Given the description of an element on the screen output the (x, y) to click on. 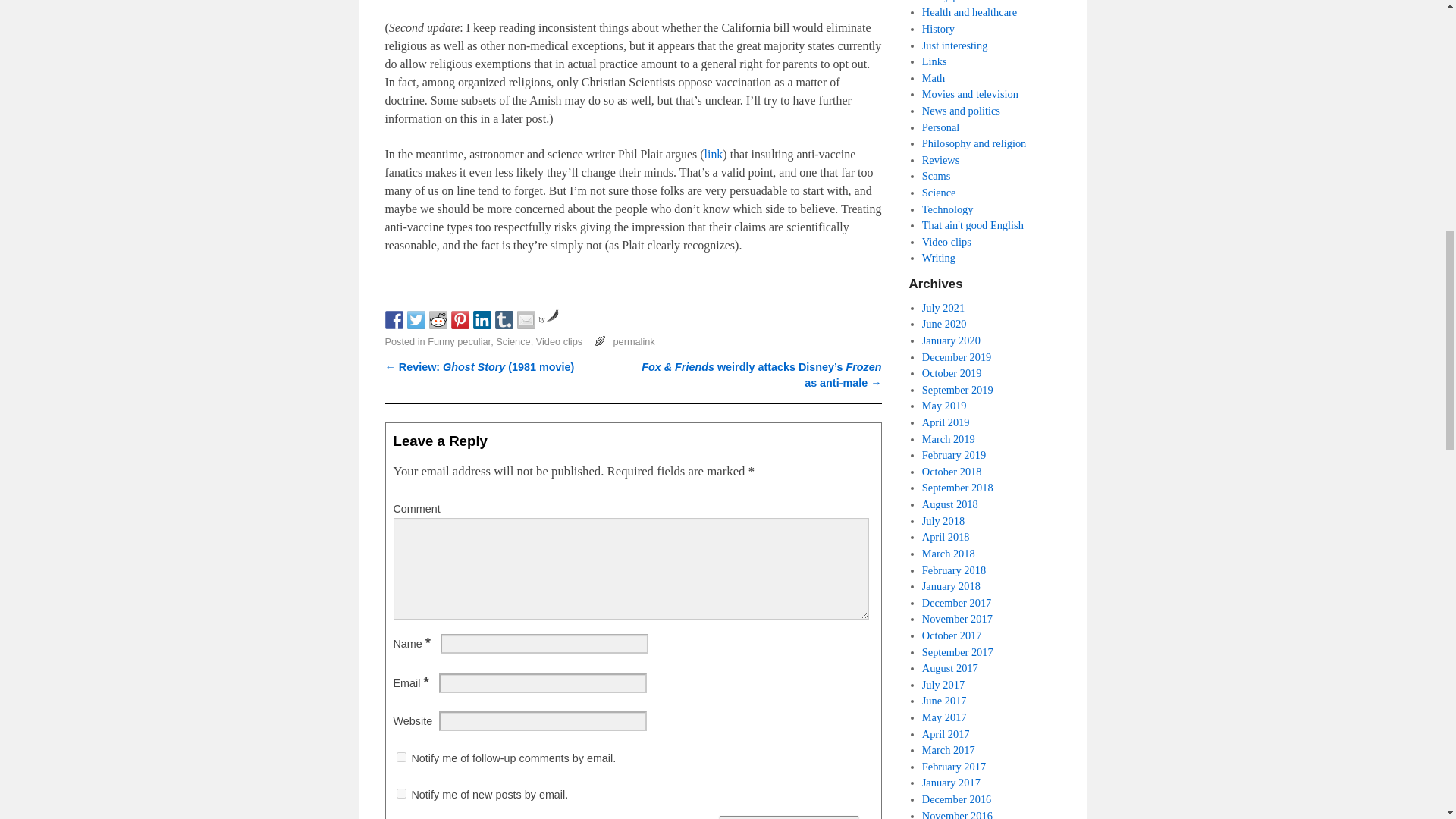
Share on Facebook (394, 320)
subscribe (401, 793)
permalink (632, 341)
Funny peculiar (459, 341)
Pin it with Pinterest (458, 320)
Video clips (558, 341)
Post Comment (788, 817)
Share on Linkedin (482, 320)
Post Comment (788, 817)
subscribe (401, 757)
Share on Reddit (437, 320)
Science (512, 341)
link (713, 154)
Share on Twitter (415, 320)
by (547, 319)
